Given the description of an element on the screen output the (x, y) to click on. 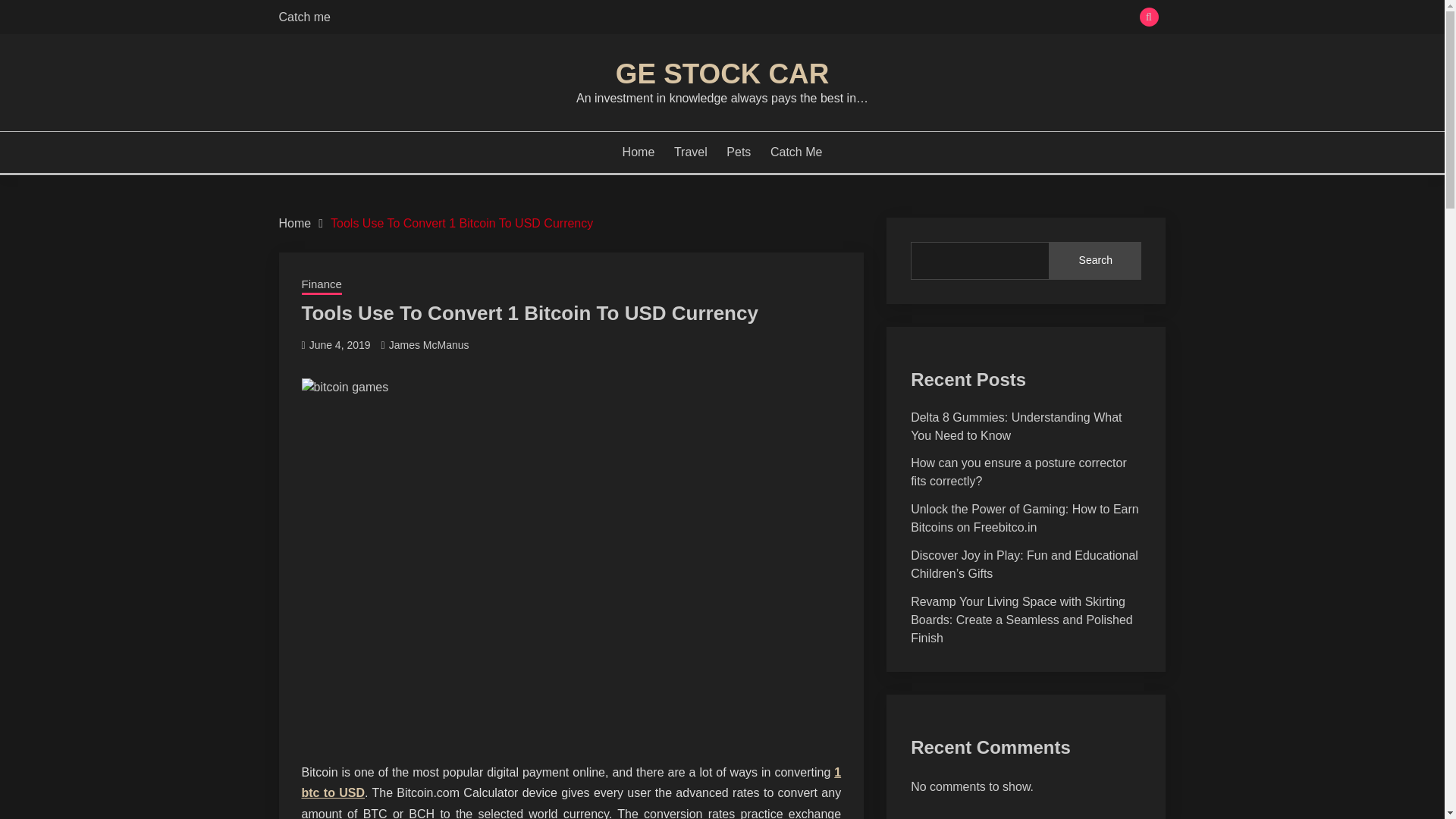
Tools Use To Convert 1 Bitcoin To USD Currency (461, 223)
GE STOCK CAR (721, 73)
June 4, 2019 (339, 345)
Delta 8 Gummies: Understanding What You Need to Know (1016, 426)
James McManus (428, 345)
Home (639, 152)
Home (295, 223)
Search (832, 18)
Search (1095, 260)
How can you ensure a posture corrector fits correctly? (1018, 471)
1 btc to USD (571, 782)
Catch me (304, 16)
Pets (738, 152)
